Given the description of an element on the screen output the (x, y) to click on. 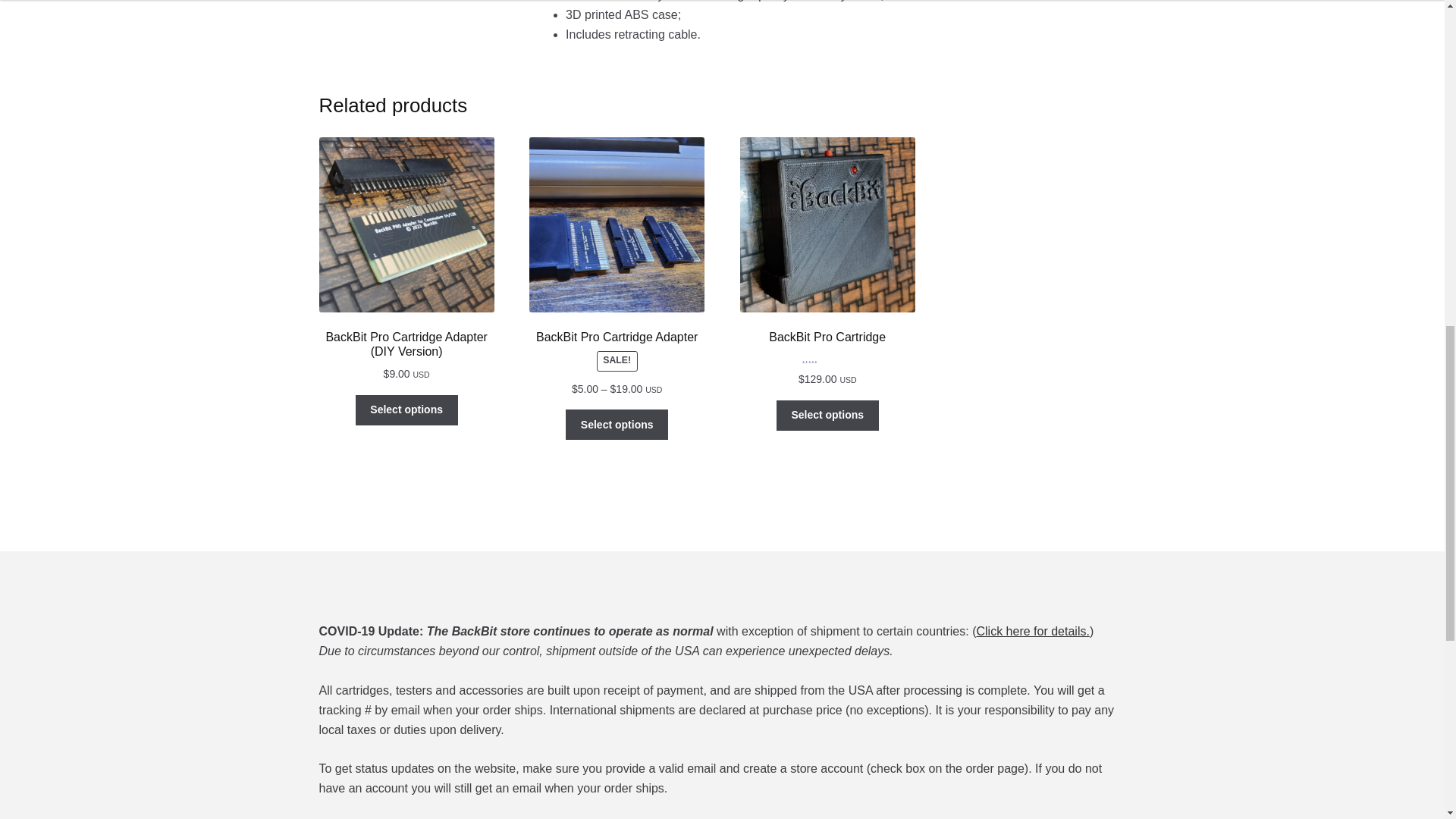
Select options (406, 409)
Select options (617, 424)
Select options (827, 415)
